Given the description of an element on the screen output the (x, y) to click on. 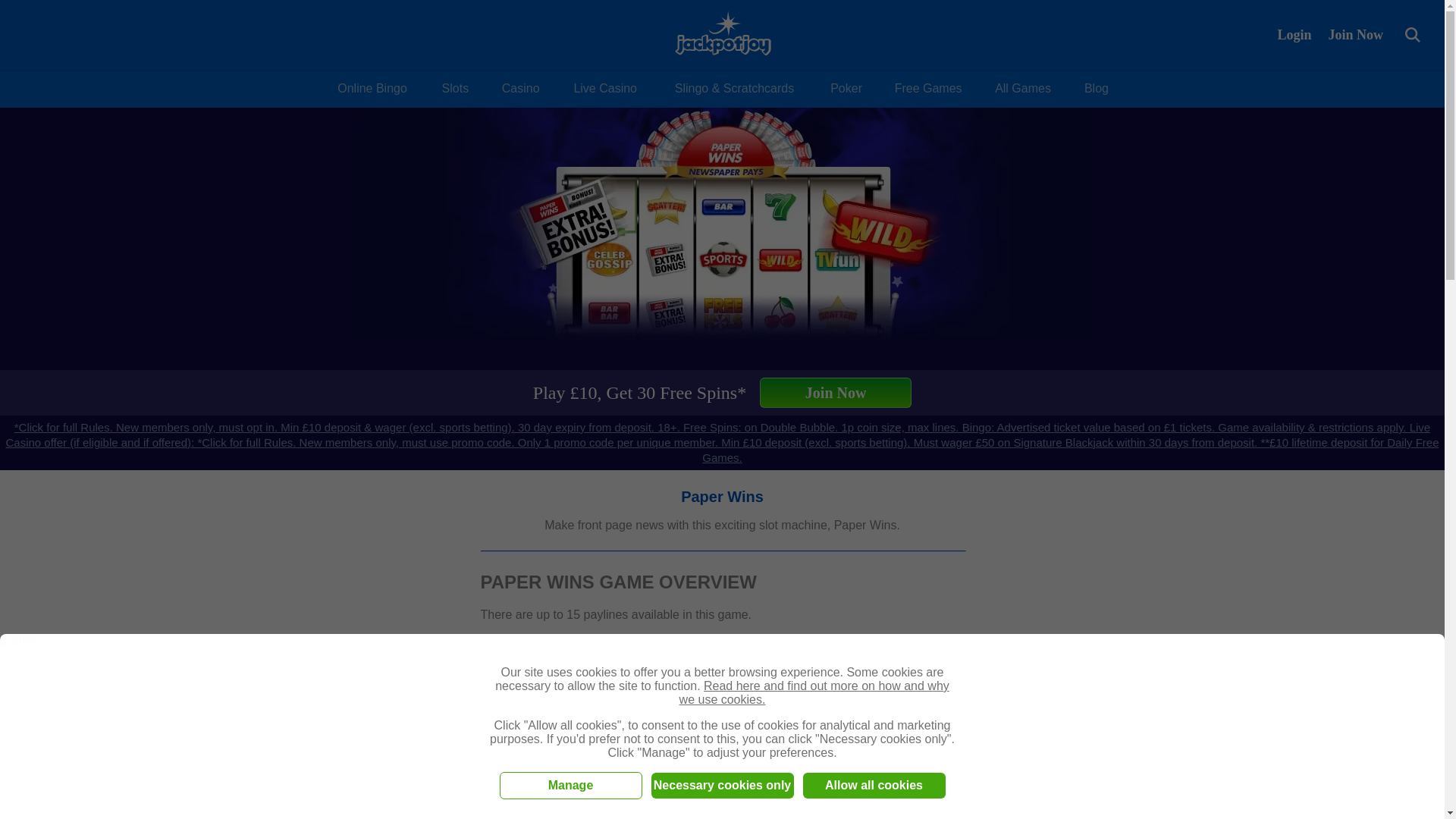
Slots (454, 88)
Live Casino (604, 88)
All Games (1022, 88)
Casino (520, 88)
Join Now (1355, 34)
Blog (1096, 88)
Free Games (927, 88)
Blog (1096, 88)
Jackpotjoy (721, 34)
Poker (845, 88)
Join Now (1355, 34)
Online Bingo (371, 88)
All Games (1022, 88)
Slots (454, 88)
Free Games (927, 88)
